Given the description of an element on the screen output the (x, y) to click on. 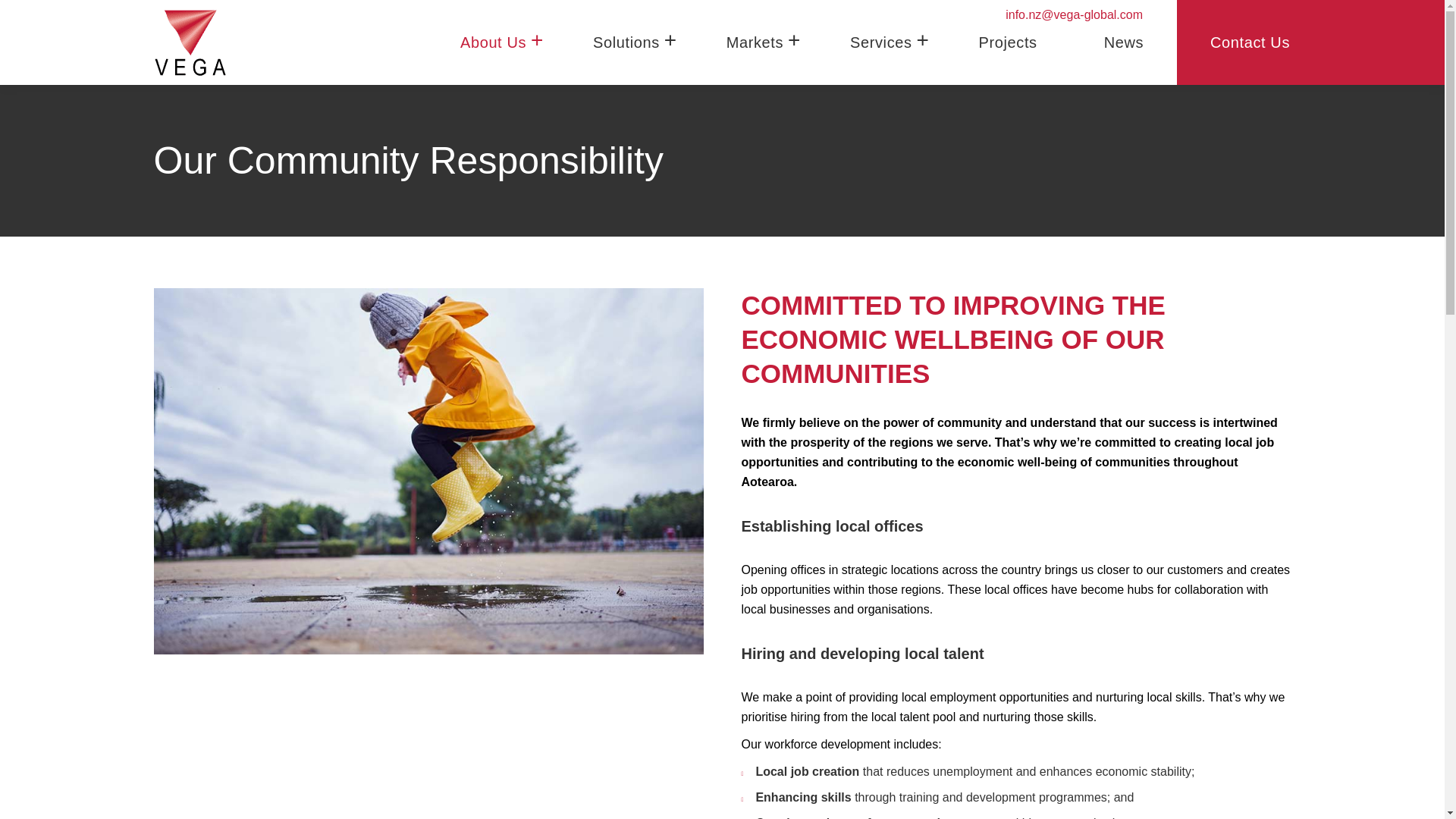
Solutions (625, 42)
About Us (493, 42)
